Given the description of an element on the screen output the (x, y) to click on. 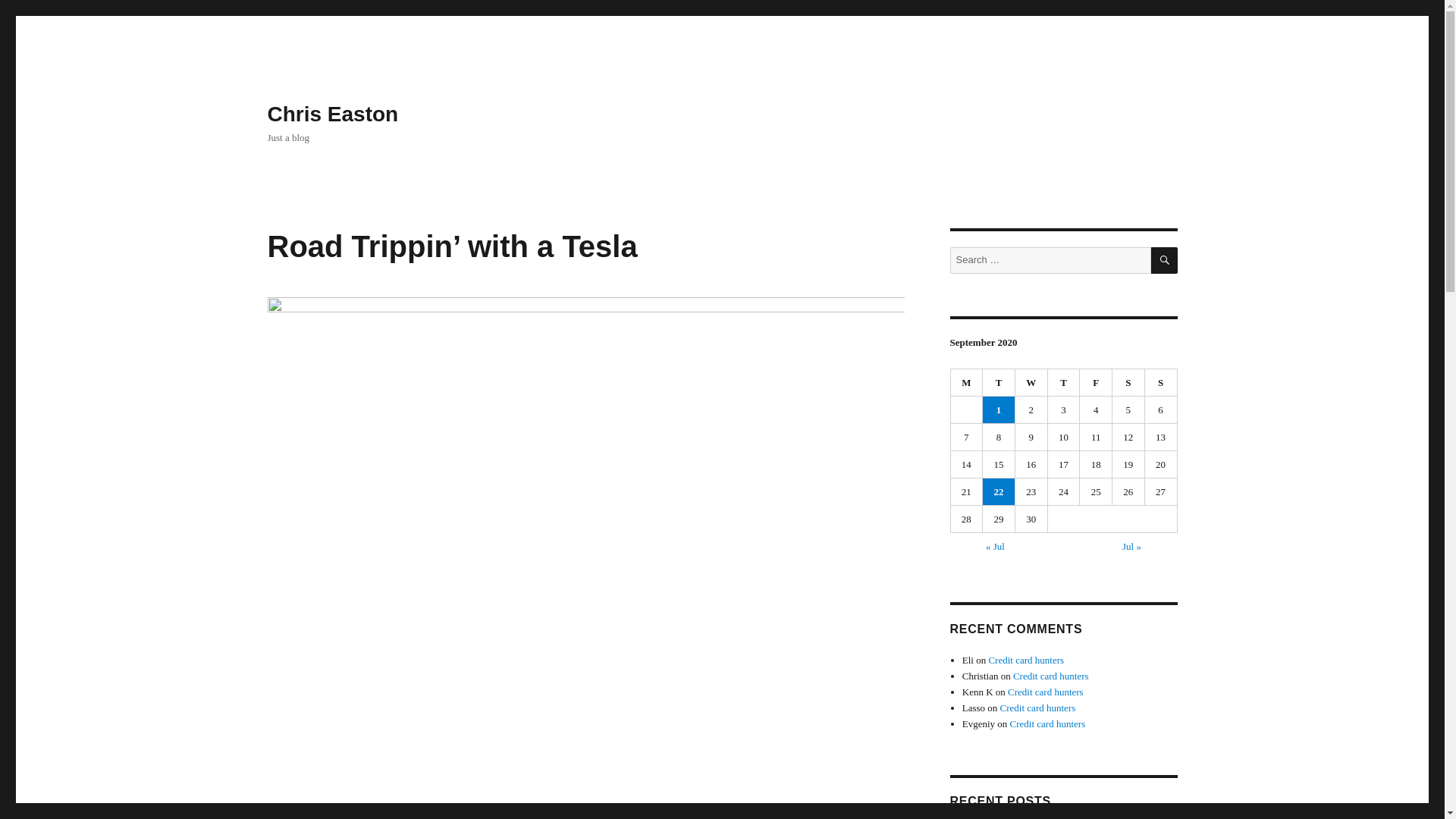
Tuesday (998, 382)
Friday (1096, 382)
Credit card hunters (1045, 691)
Wednesday (1031, 382)
Credit card hunters (1048, 723)
Credit card hunters (1037, 707)
1 (998, 409)
22 (998, 491)
Credit card hunters (1051, 675)
Chris Easton (331, 114)
Credit card hunters (1026, 659)
Sunday (1160, 382)
Thursday (1064, 382)
SEARCH (1164, 260)
Saturday (1128, 382)
